Given the description of an element on the screen output the (x, y) to click on. 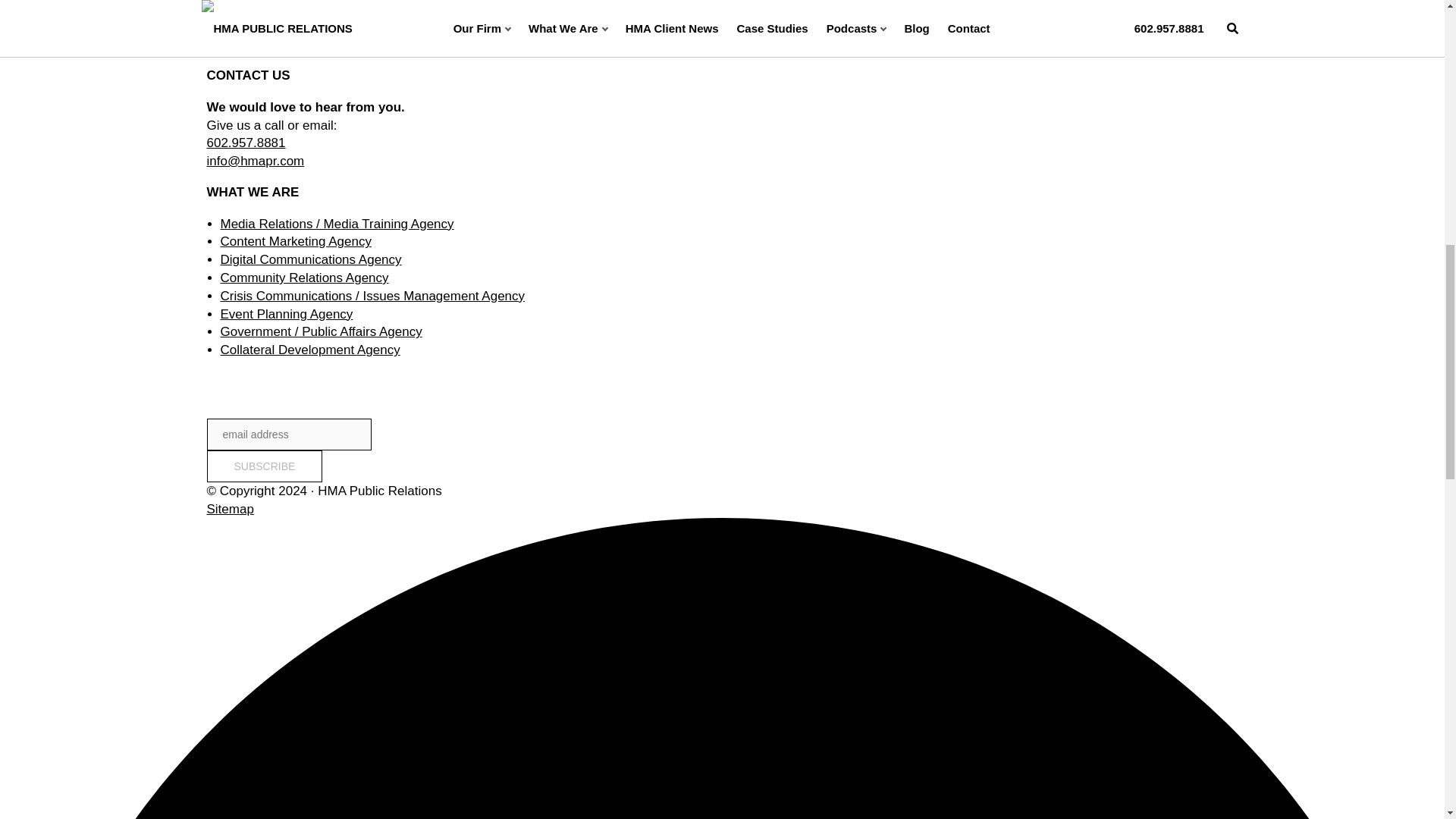
602.957.8881 (245, 142)
CONTACT US (912, 36)
OUR STORY (781, 36)
Subscribe (263, 466)
